Given the description of an element on the screen output the (x, y) to click on. 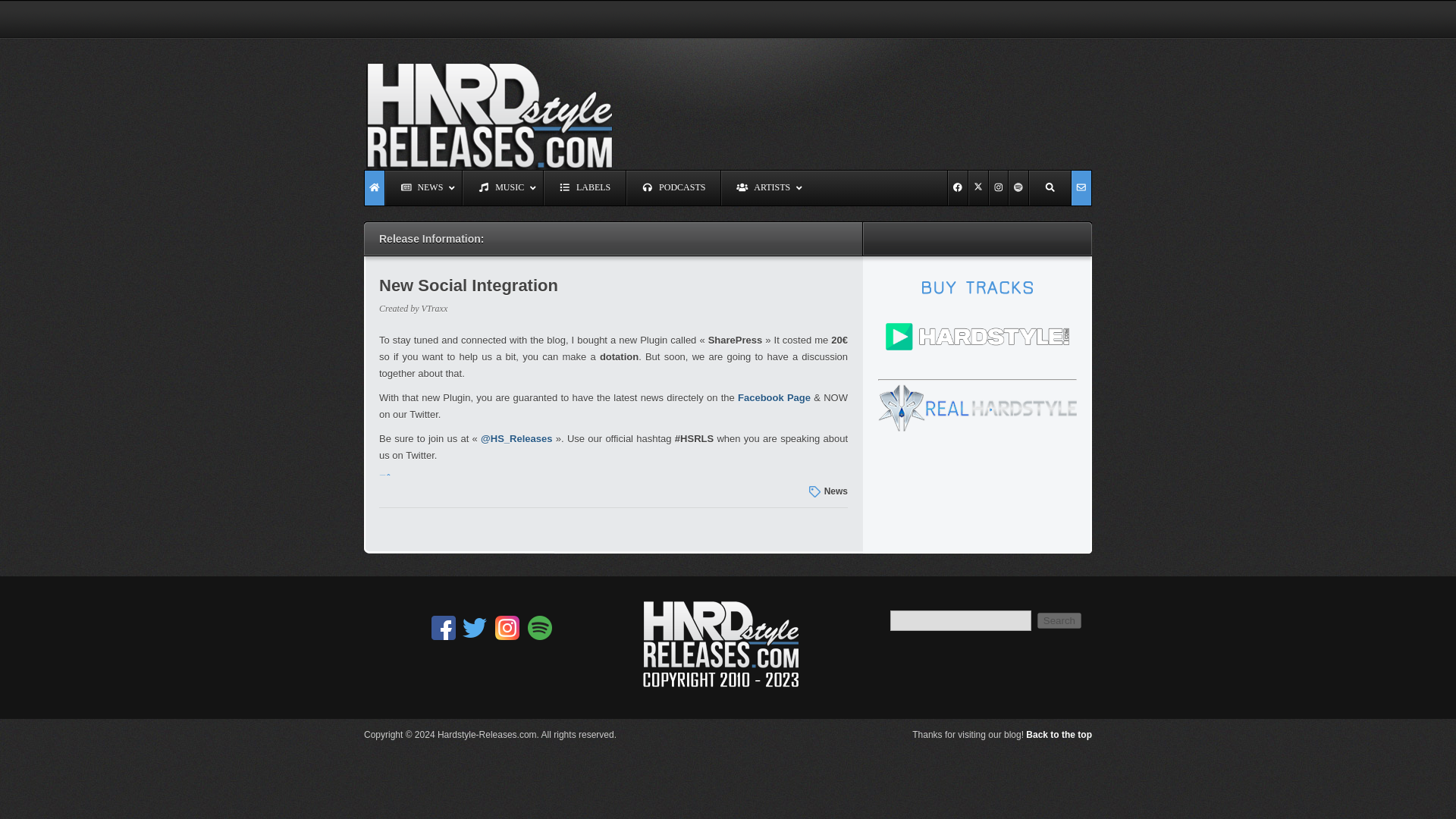
NEWS (423, 187)
Search (1058, 620)
MUSIC (502, 187)
